Given the description of an element on the screen output the (x, y) to click on. 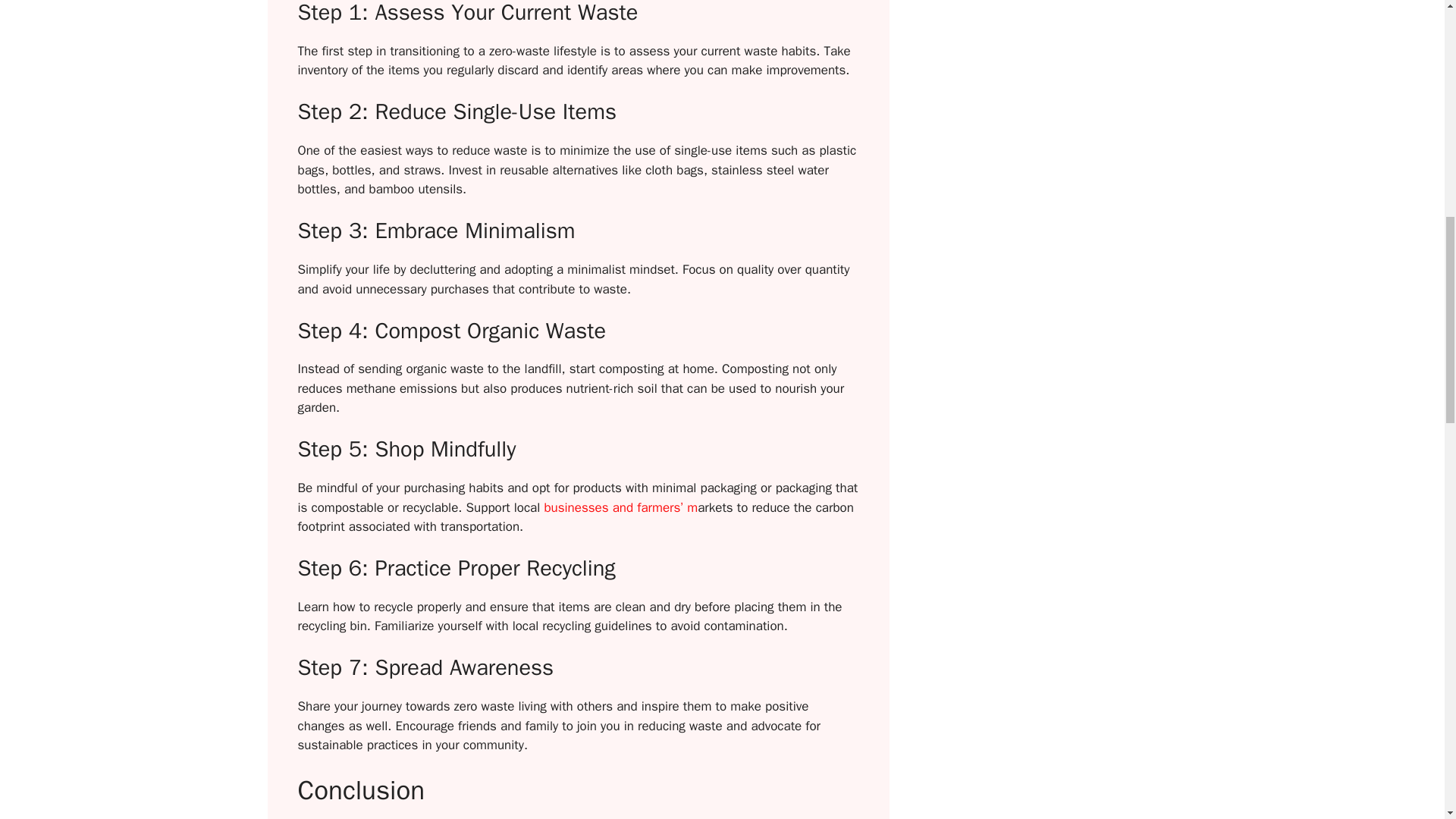
Scroll back to top (1406, 720)
